Given the description of an element on the screen output the (x, y) to click on. 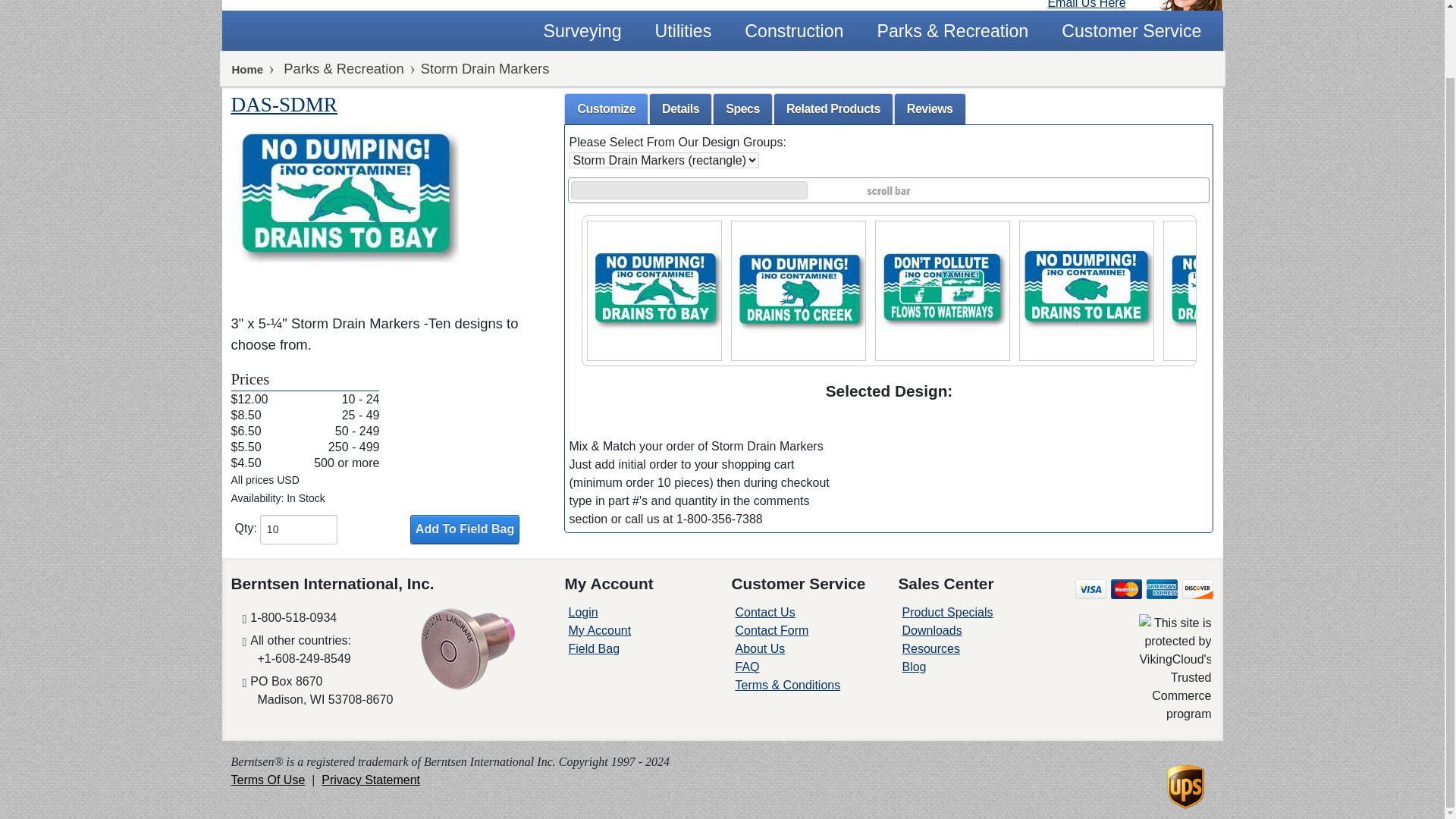
DASNDF - Don't Pollute Flows to Waterways (942, 287)
Login (581, 612)
DASNDC - No Dumping Drains to Creek (798, 287)
DASNDL - No Dumping Drains to Lake (1086, 287)
DASNDB - No Dumping Drains to Bay (654, 287)
10 (298, 529)
Email Us Here (1085, 4)
Customer Service (1125, 30)
DASNDO - No Dumping Drains to Ocean (1230, 287)
